Given the description of an element on the screen output the (x, y) to click on. 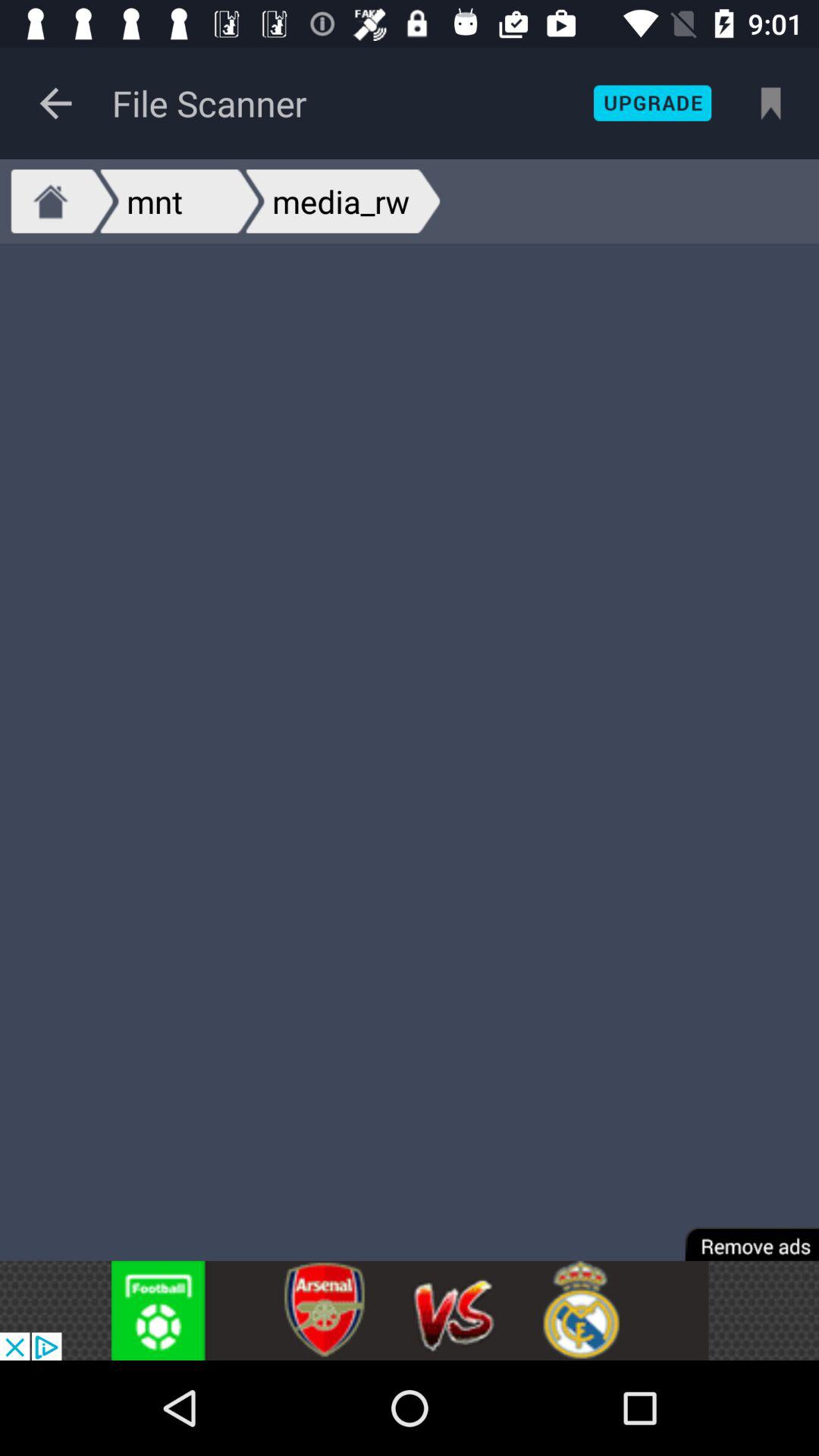
remove advertisements (742, 1233)
